Given the description of an element on the screen output the (x, y) to click on. 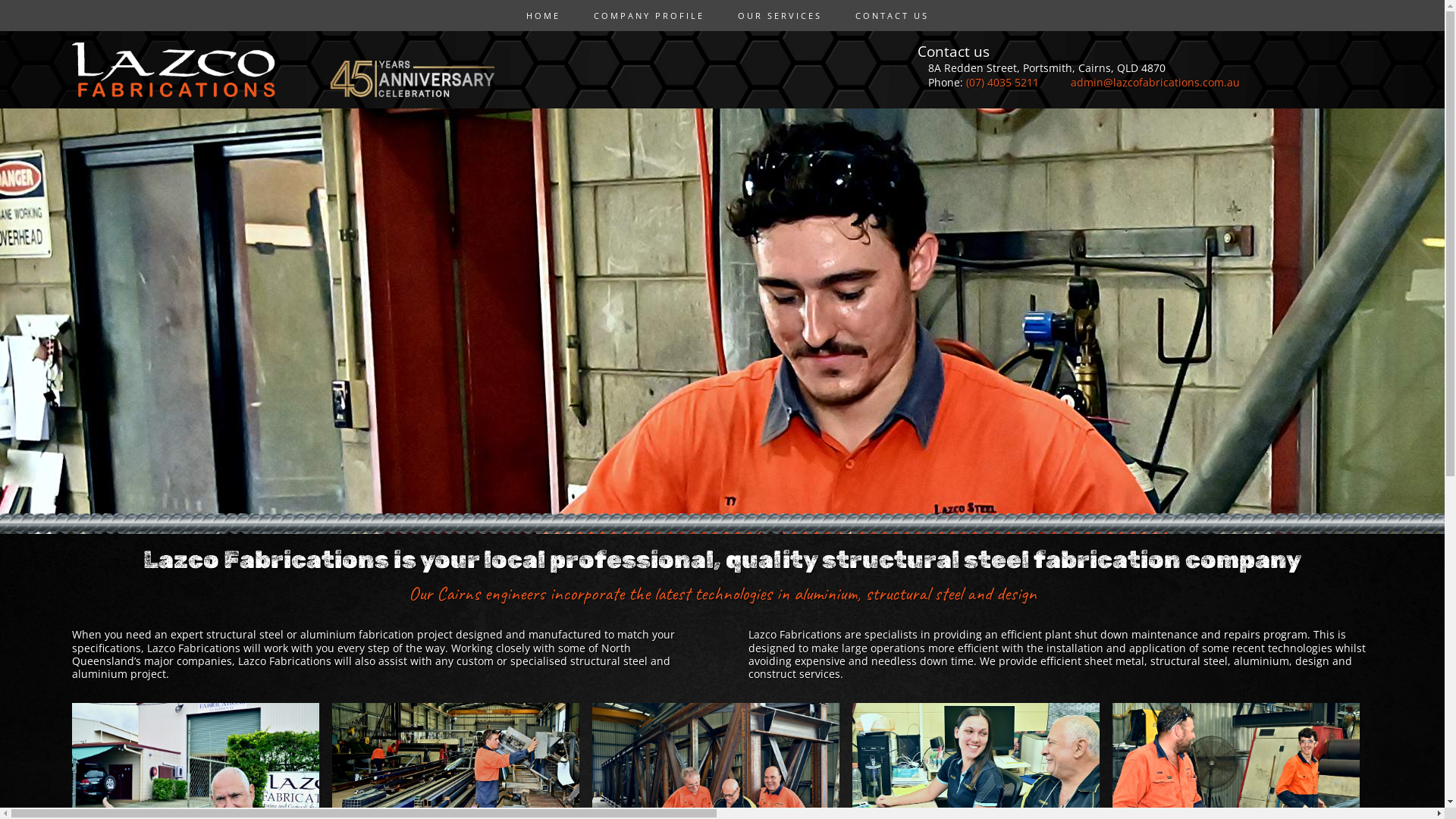
OUR SERVICES Element type: text (774, 15)
HOME Element type: text (537, 15)
CONTACT US Element type: text (886, 15)
COMPANY PROFILE Element type: text (643, 15)
admin@lazcofabrications.com.au Element type: text (1154, 82)
(07) 4035 5211 Element type: text (1002, 82)
